Given the description of an element on the screen output the (x, y) to click on. 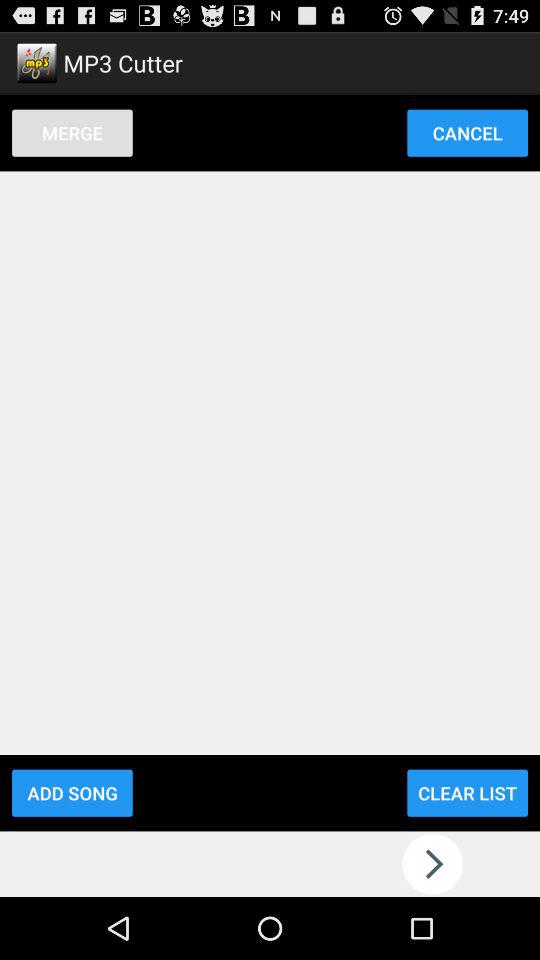
press the item at the bottom left corner (72, 792)
